Given the description of an element on the screen output the (x, y) to click on. 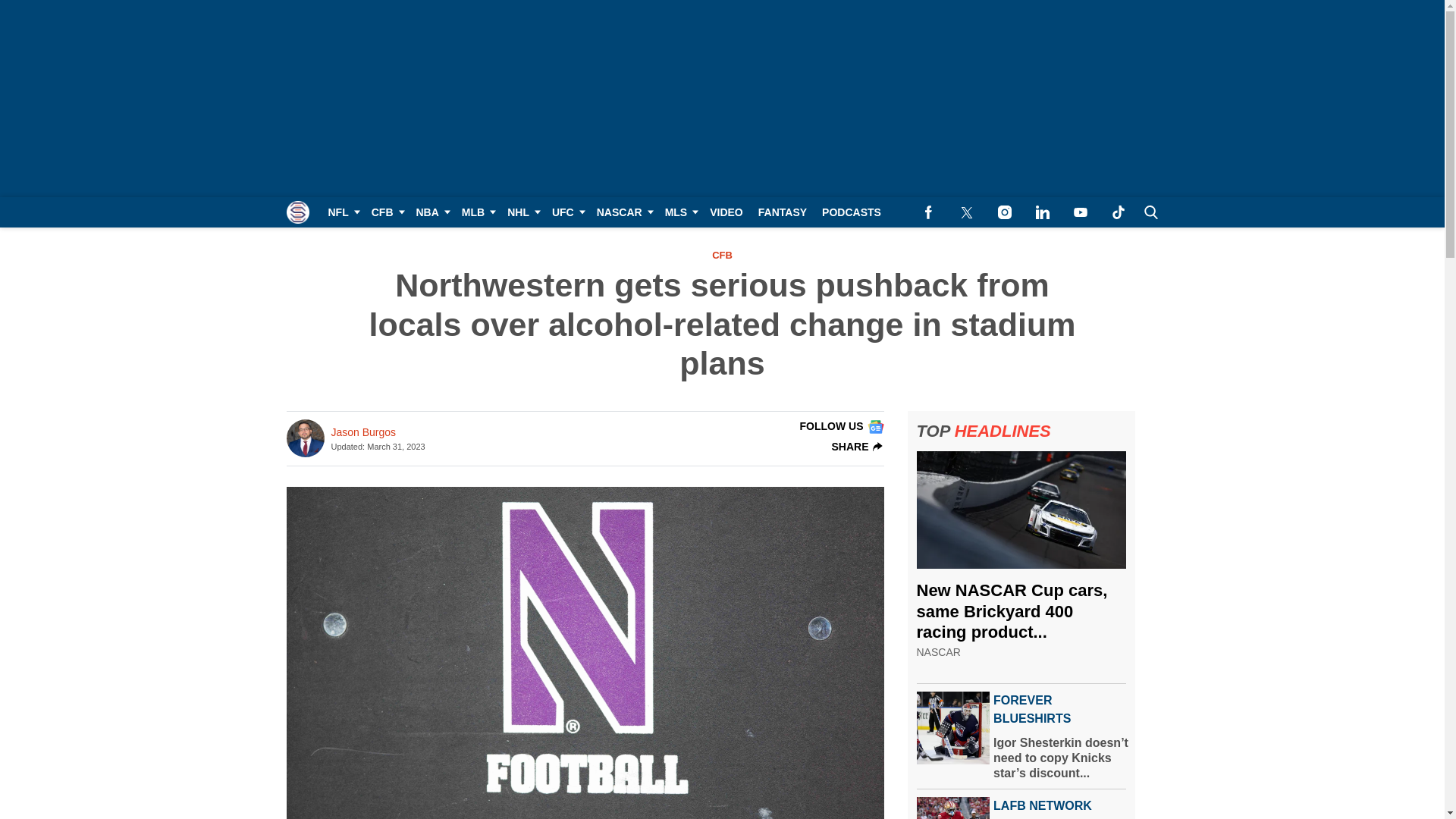
Follow us on Twitter (966, 212)
Posts by Jason Burgos (363, 432)
Connect with us on LinkedIn (1042, 212)
CFB (386, 212)
Follow us on Facebook (928, 212)
Subscribe to our YouTube channel (1080, 212)
Subscribe to our TikTok channel (1118, 212)
NHL (521, 212)
Follow us on Instagram (1004, 212)
UFC (566, 212)
MLB (476, 212)
NFL (341, 212)
NBA (429, 212)
